Given the description of an element on the screen output the (x, y) to click on. 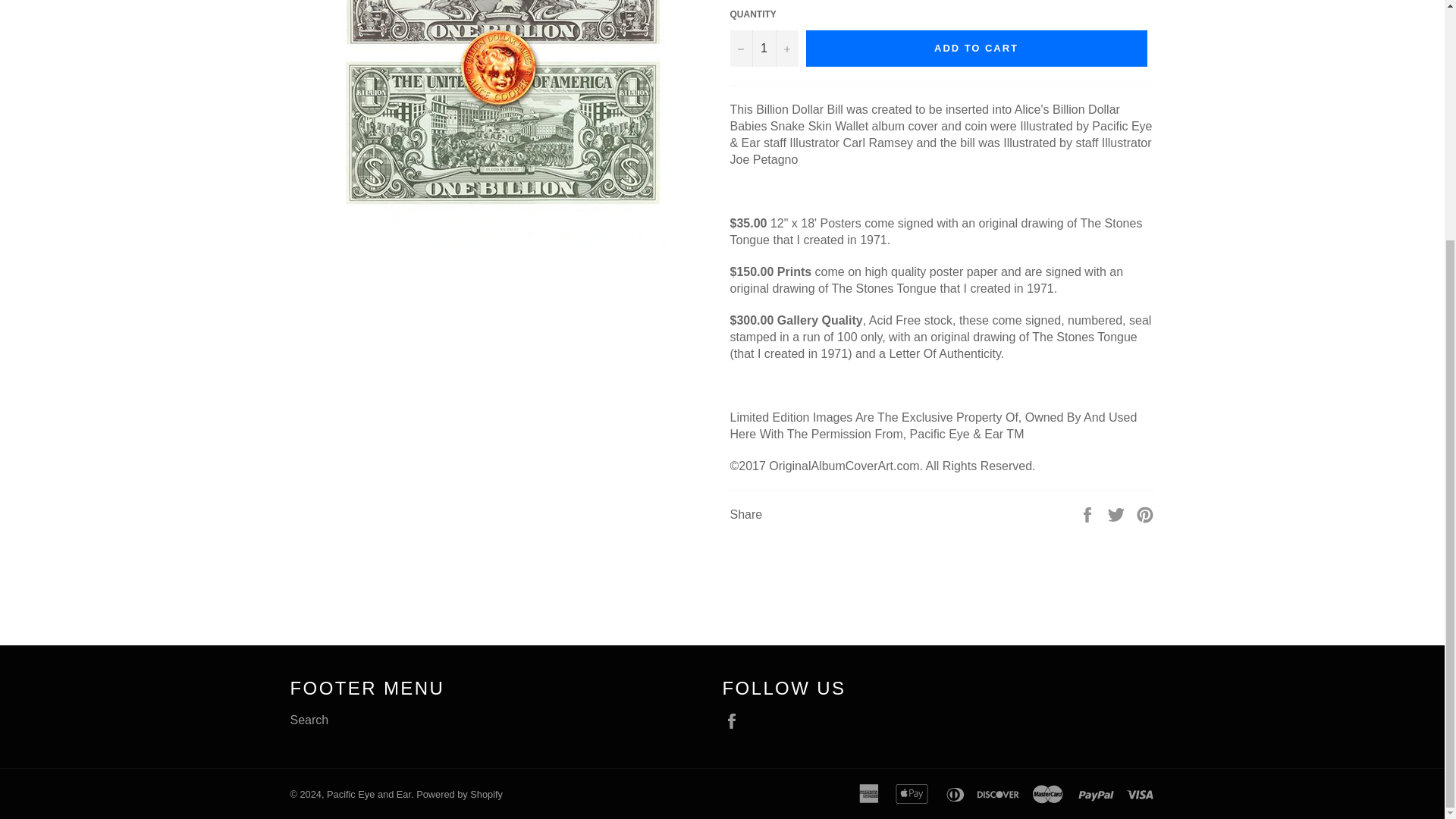
Search (309, 719)
Pin on Pinterest (1144, 513)
Tweet on Twitter (1117, 513)
Share on Facebook (1088, 513)
Pacific Eye and Ear on Facebook (735, 720)
Facebook (735, 720)
Pin on Pinterest (1144, 513)
Tweet on Twitter (1117, 513)
Powered by Shopify (459, 794)
Share on Facebook (1088, 513)
ADD TO CART (976, 48)
1 (763, 48)
Pacific Eye and Ear (368, 794)
